Given the description of an element on the screen output the (x, y) to click on. 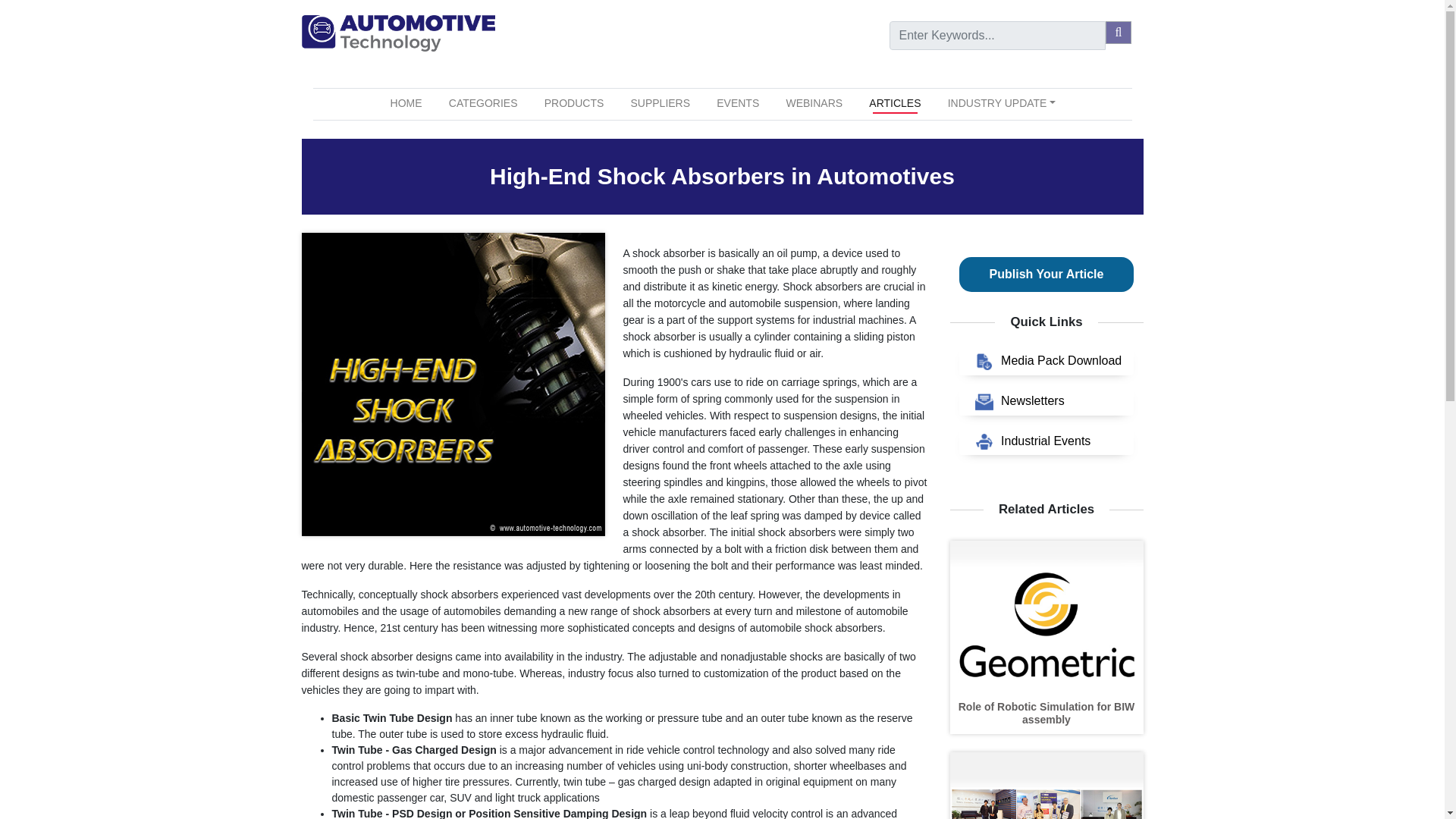
Media Pack Download (1046, 361)
Industrial Events (1046, 441)
Quick Links (1045, 321)
Related Articles (1046, 509)
PRODUCTS (574, 103)
Newsletters (1046, 401)
WEBINARS (813, 103)
ARTICLES (894, 103)
Role of Robotic Simulation for BIW assembly (1046, 713)
EVENTS (737, 103)
messages.sitename (398, 33)
INDUSTRY UPDATE (1001, 103)
CATEGORIES (483, 103)
SUPPLIERS (659, 103)
